Given the description of an element on the screen output the (x, y) to click on. 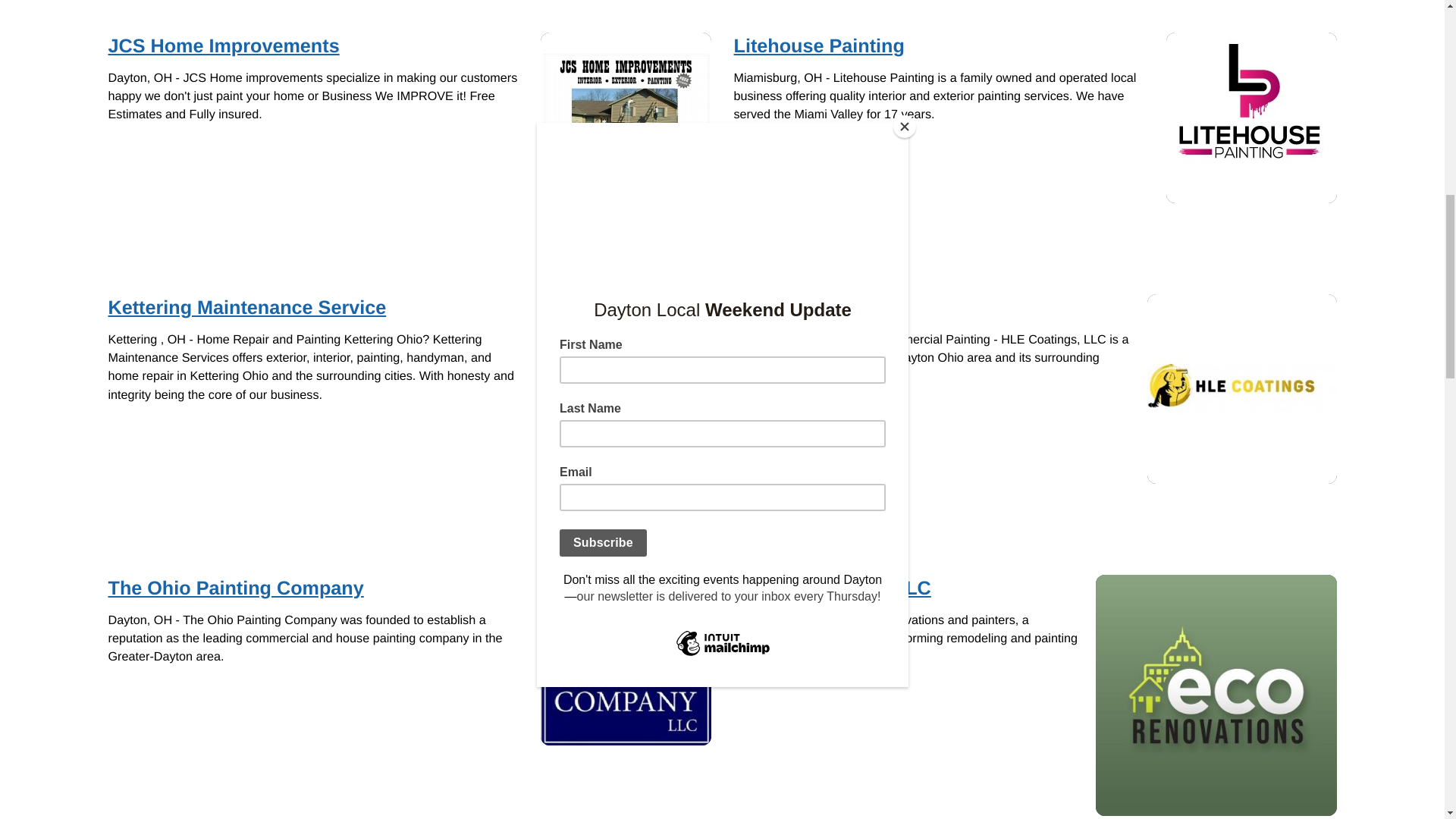
Kettering Maintenance Service (625, 333)
Eco Renovations LLC (1215, 694)
JCS Home Improvements (625, 117)
HLE Coatings, LLC (1241, 389)
The Ohio Painting Company (625, 659)
Litehouse Painting (1251, 117)
